Given the description of an element on the screen output the (x, y) to click on. 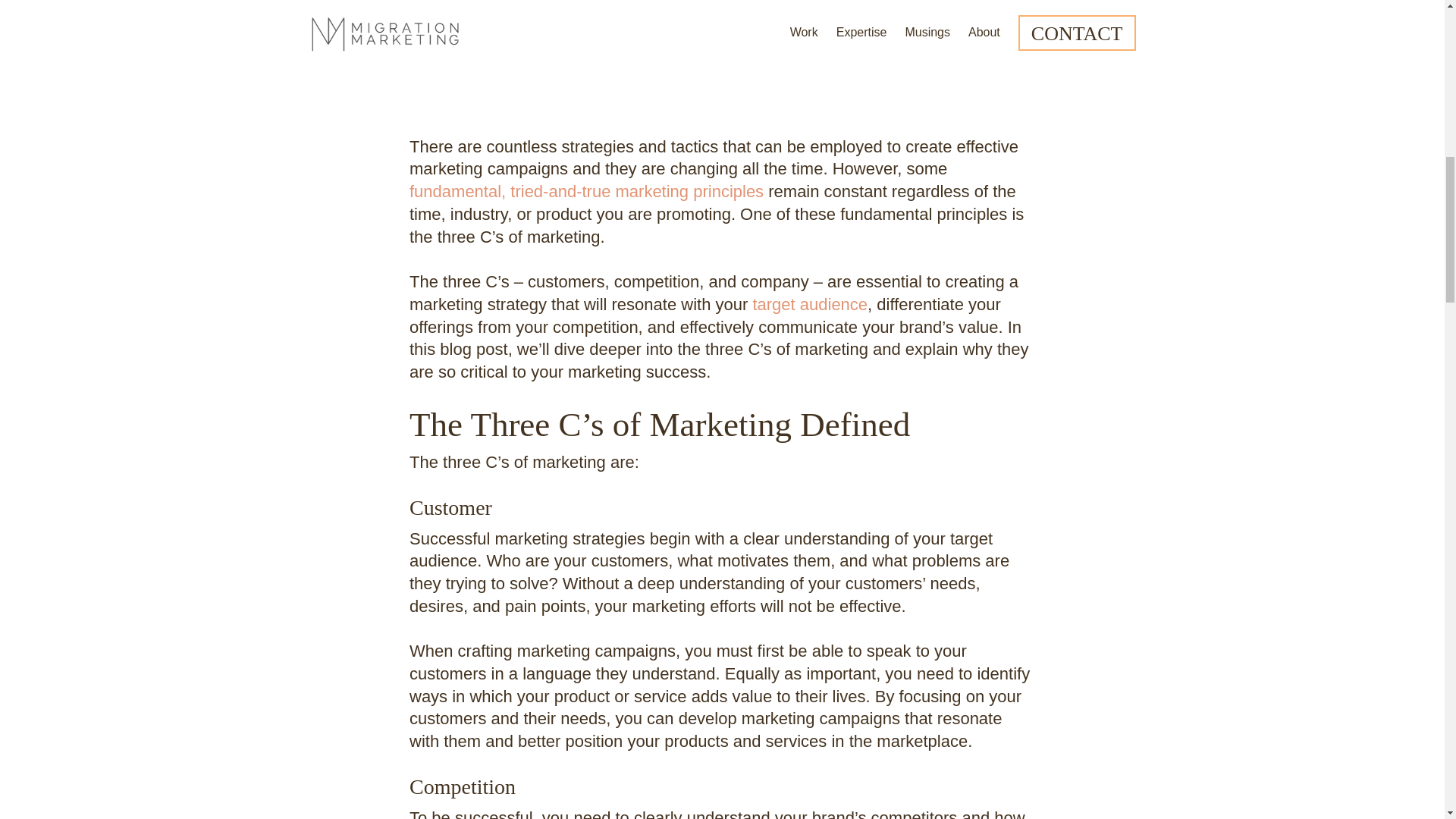
target audience (807, 303)
fundamental, tried-and-true marketing principles (585, 190)
